Given the description of an element on the screen output the (x, y) to click on. 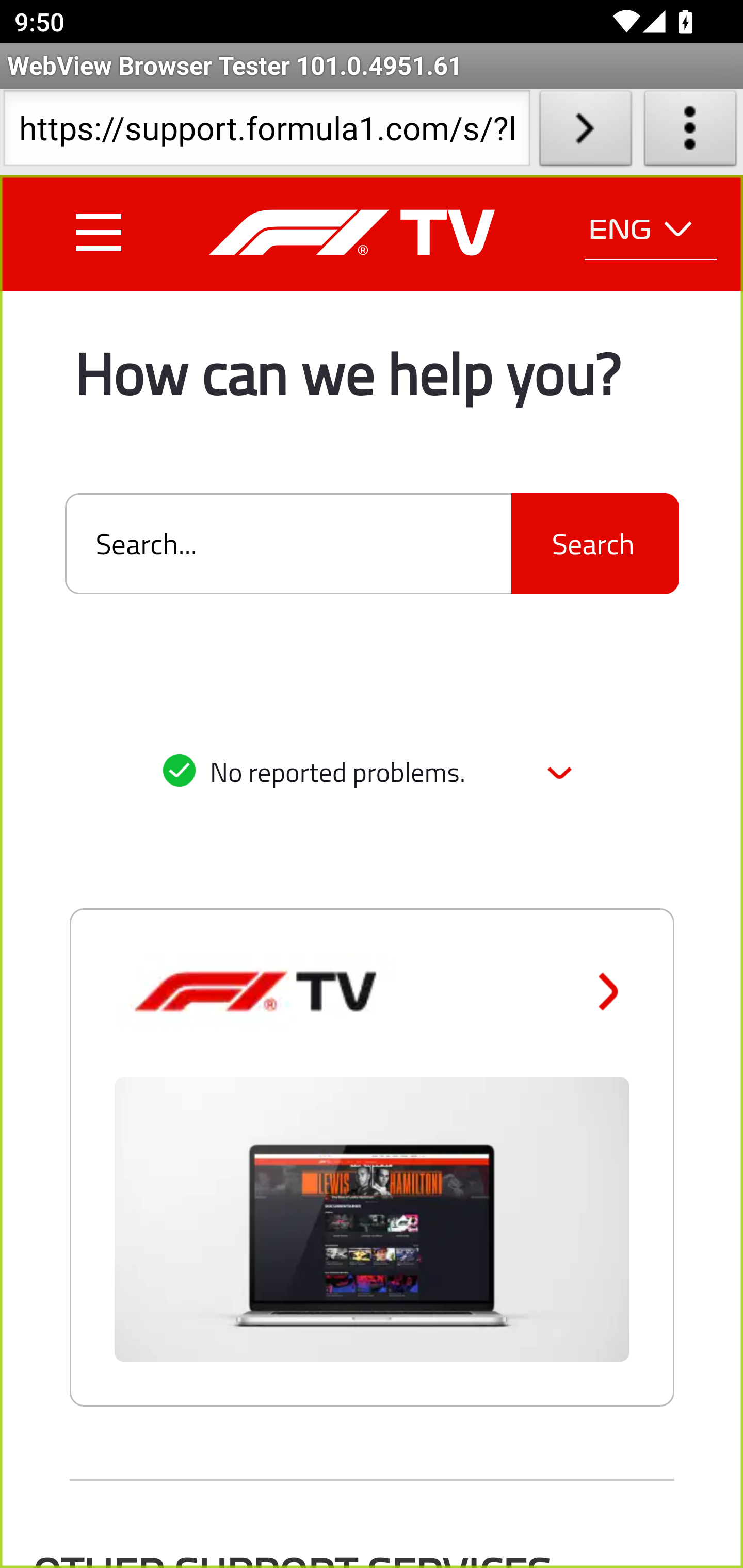
https://support.formula1.com/s/?language=en_US (266, 132)
Load URL (585, 132)
About WebView (690, 132)
ENG (650, 229)
F1LogoMicroWhite (350, 231)
Search (594, 543)
No reported problems. (371, 773)
TV redArrow Laptop TV redArrow Laptop (371, 1193)
